Given the description of an element on the screen output the (x, y) to click on. 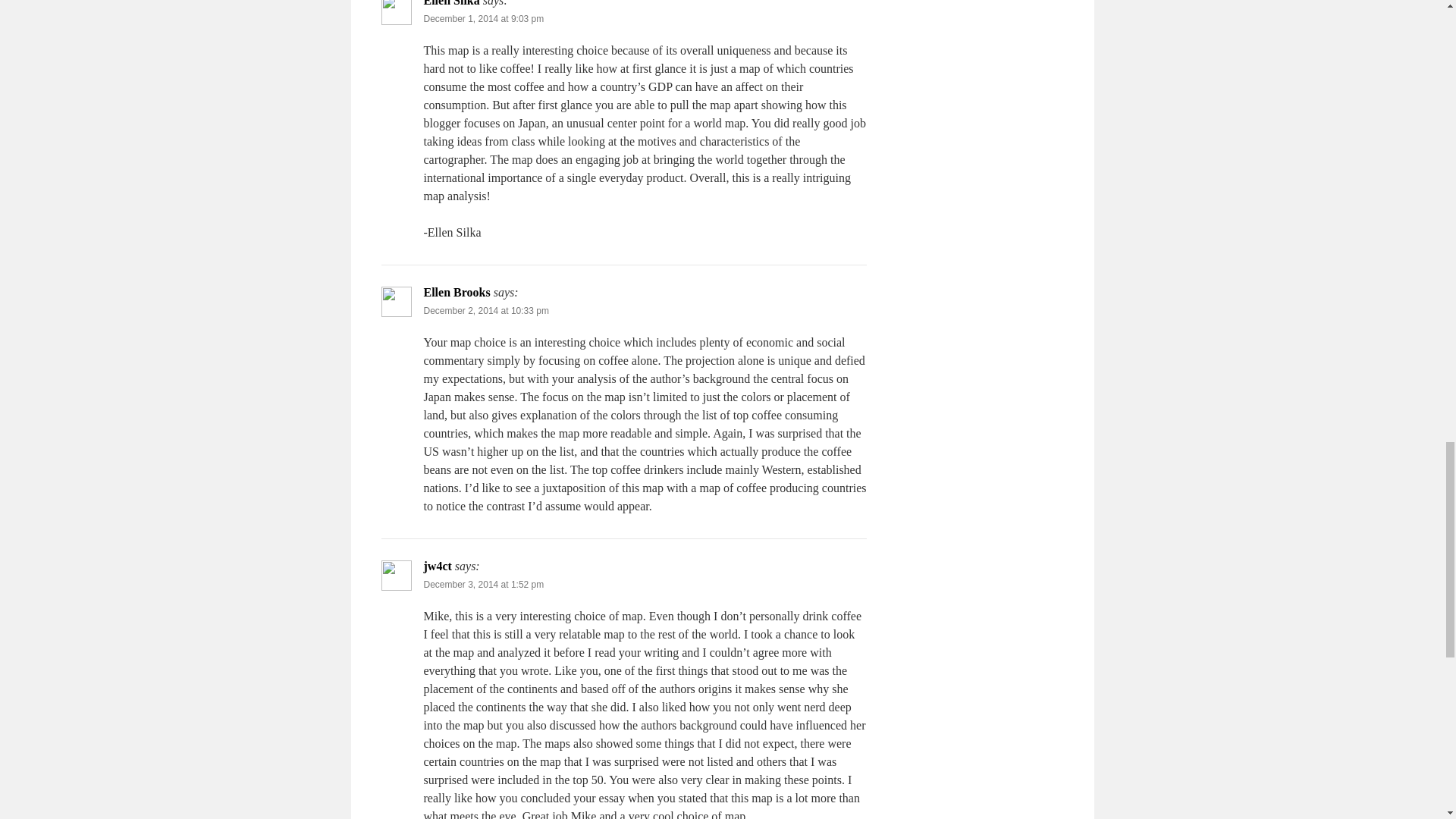
December 3, 2014 at 1:52 pm (483, 584)
December 2, 2014 at 10:33 pm (485, 310)
December 1, 2014 at 9:03 pm (483, 18)
